Given the description of an element on the screen output the (x, y) to click on. 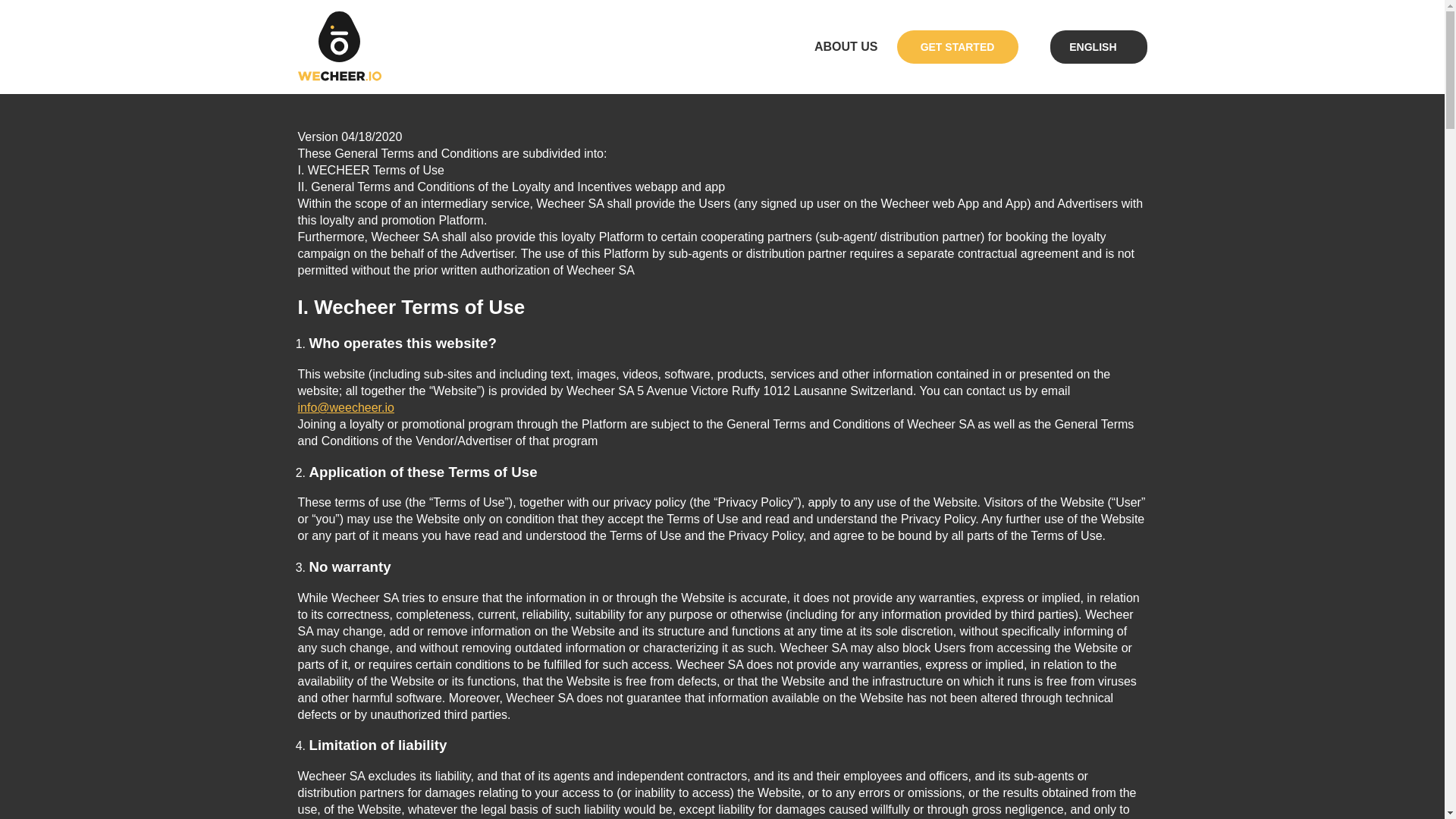
ABOUT US (845, 46)
GET STARTED (956, 46)
ENGLISH (1092, 46)
